Given the description of an element on the screen output the (x, y) to click on. 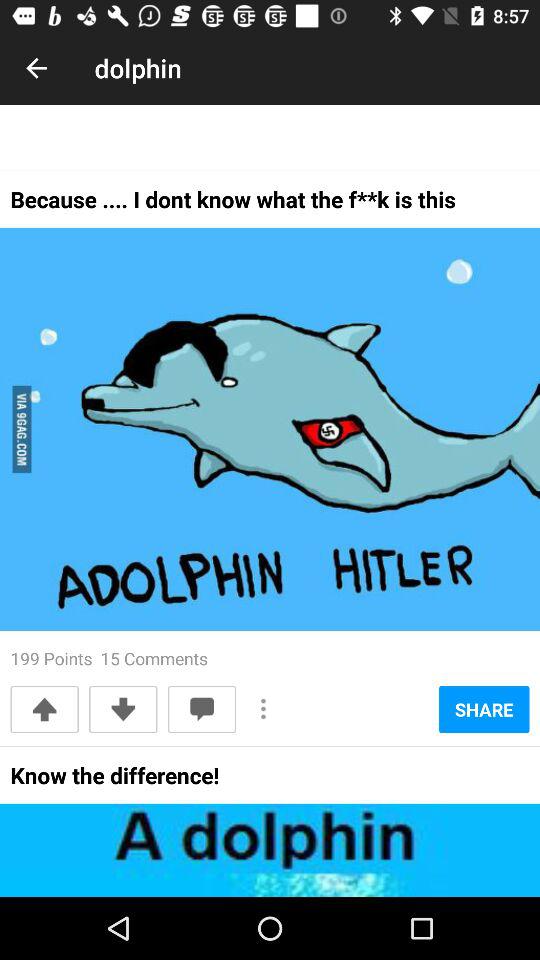
scroll until the because i dont icon (233, 205)
